Given the description of an element on the screen output the (x, y) to click on. 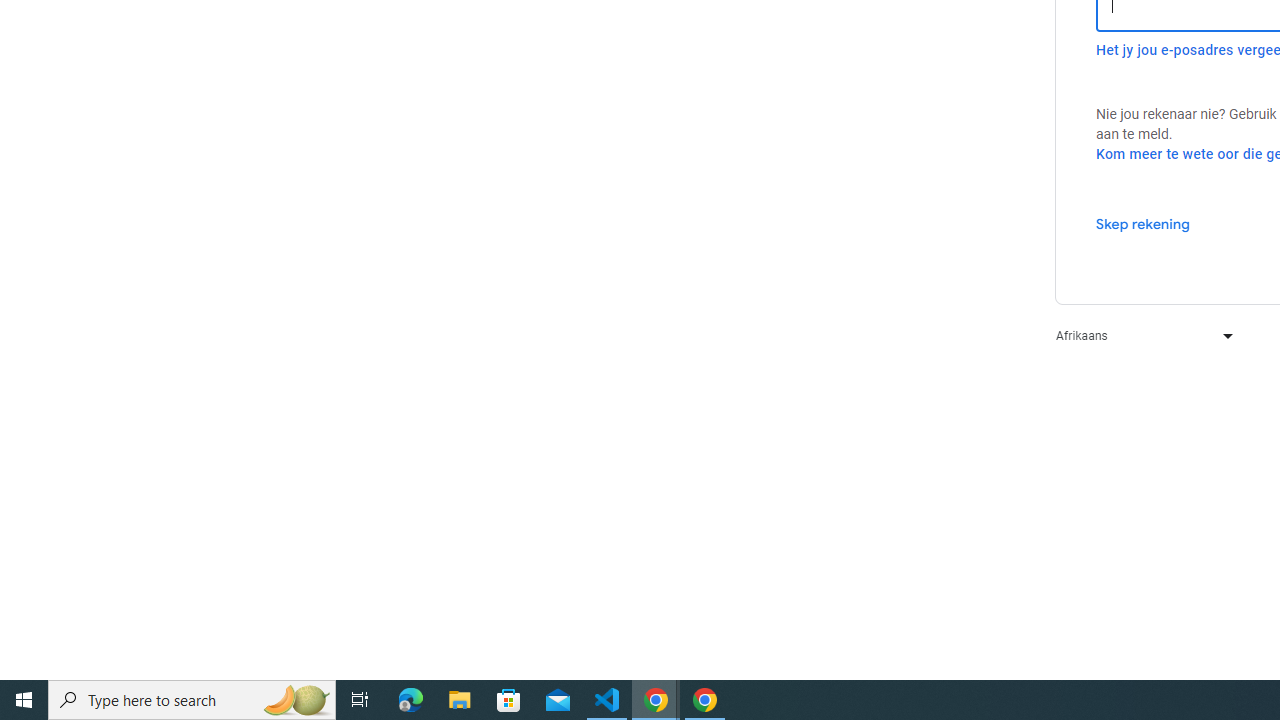
Skep rekening (1142, 223)
Afrikaans (1139, 335)
